Given the description of an element on the screen output the (x, y) to click on. 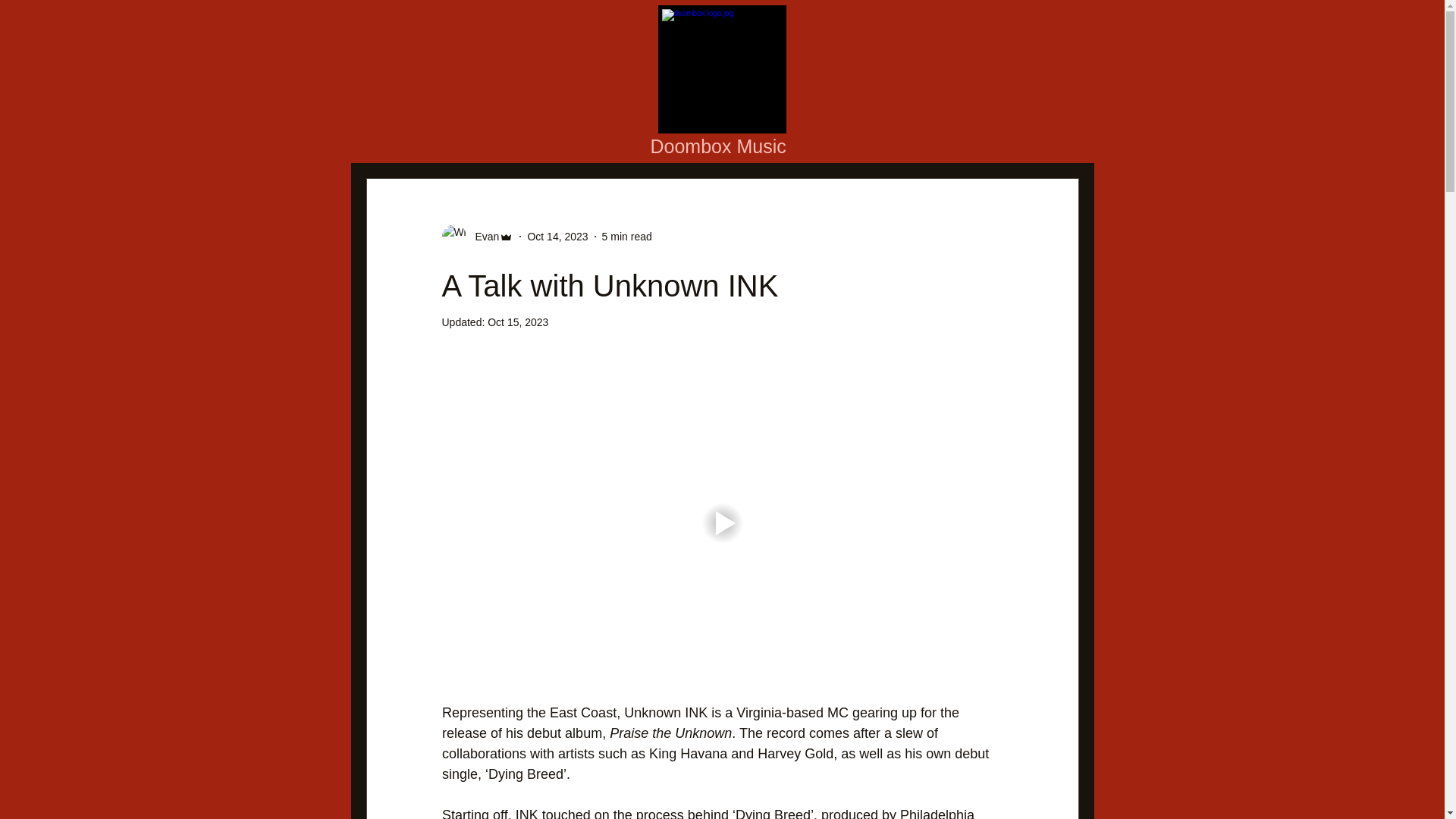
5 min read (627, 236)
Oct 15, 2023 (517, 322)
Evan (482, 236)
Oct 14, 2023 (557, 236)
